Given the description of an element on the screen output the (x, y) to click on. 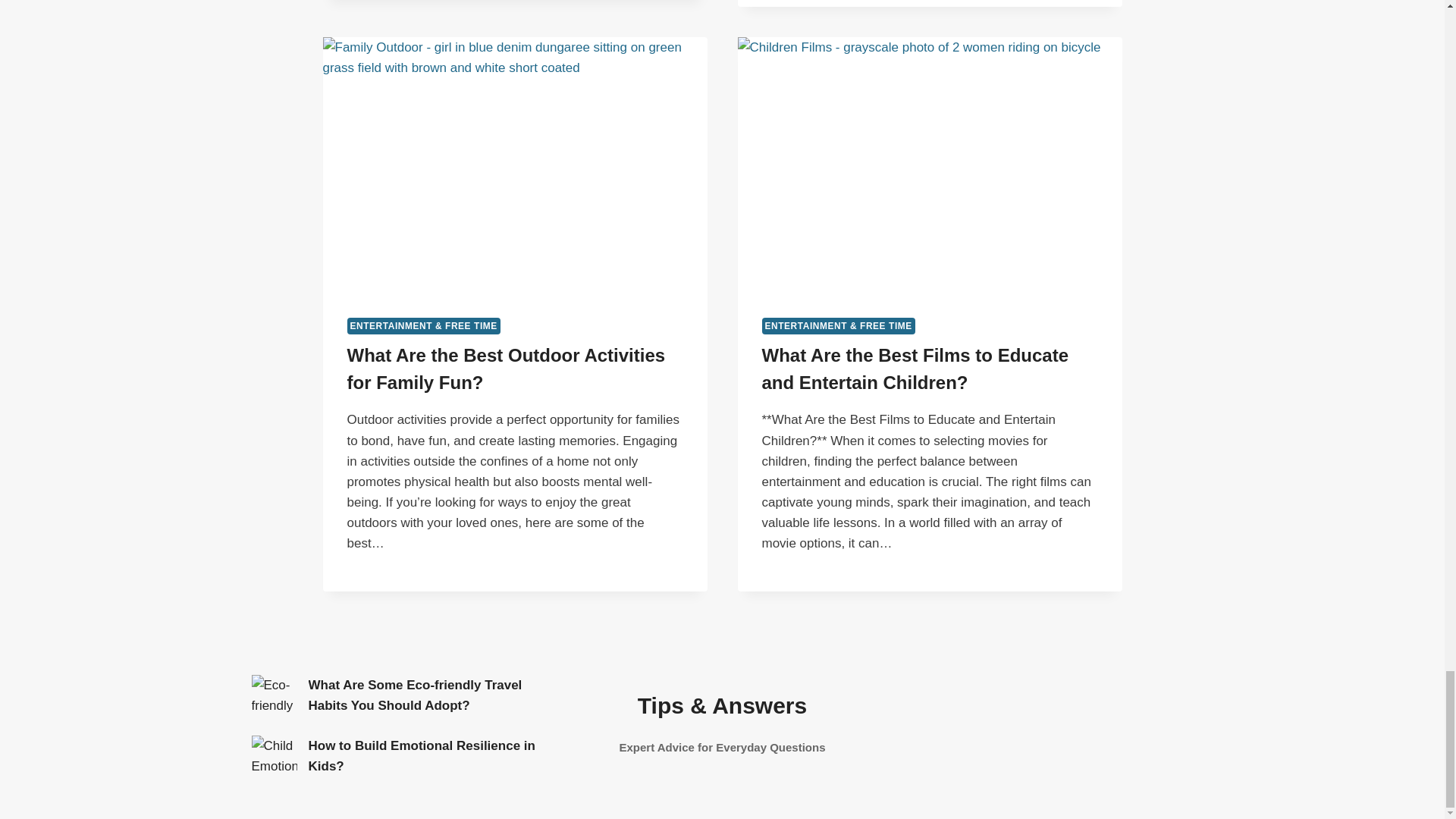
What Are the Best Films to Educate and Entertain Children? (914, 368)
What Are Some Eco-friendly Travel Habits You Should Adopt? (414, 695)
What Are Some Eco-friendly Travel Habits You Should Adopt? (274, 697)
How to Build Emotional Resilience in Kids? (420, 755)
What Are the Best Outdoor Activities for Family Fun? (506, 368)
How to Build Emotional Resilience in Kids? (274, 758)
